Given the description of an element on the screen output the (x, y) to click on. 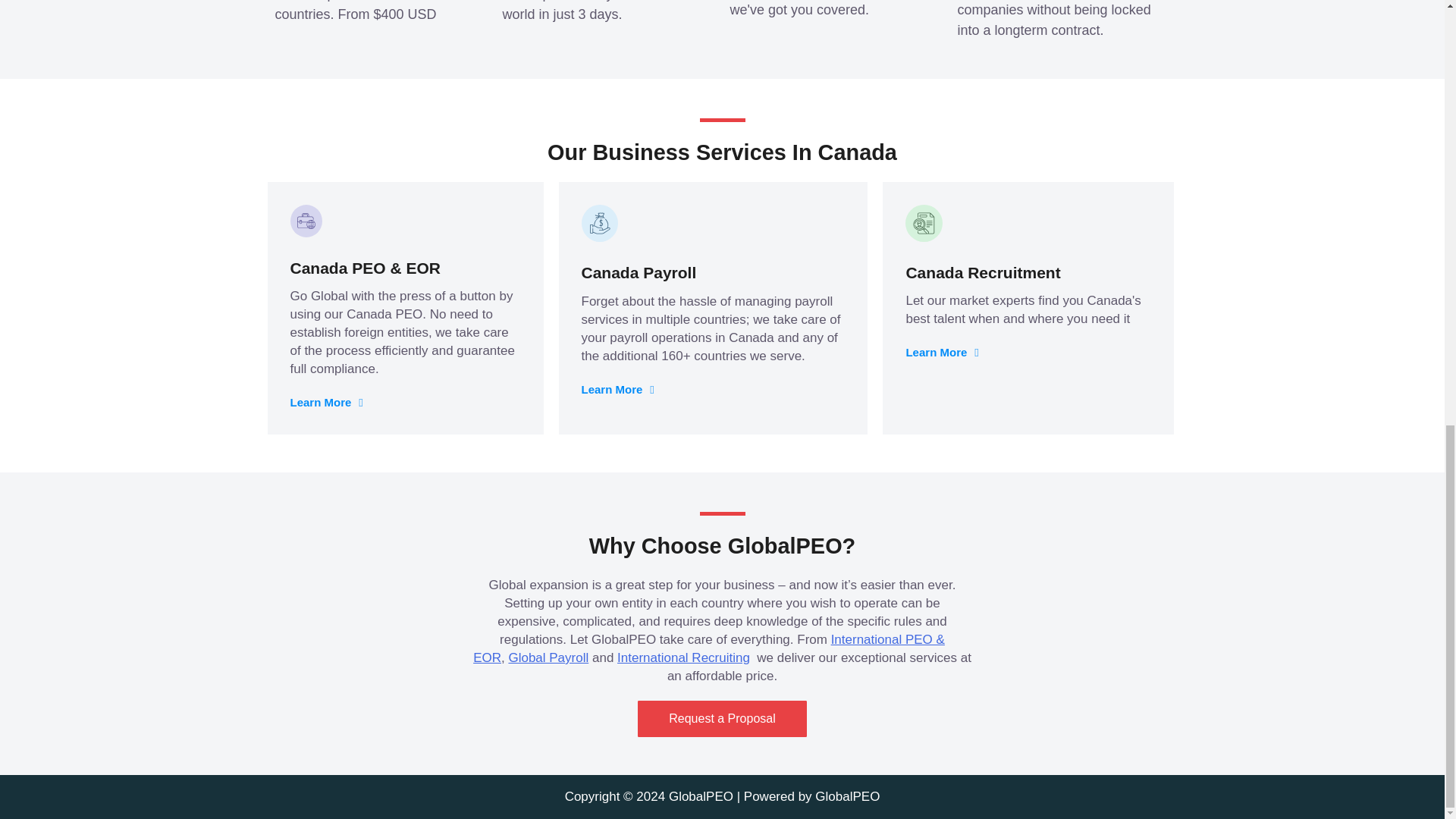
Global Payroll (548, 657)
Learn More (325, 402)
Request a Proposal (721, 719)
International Recruiting (683, 657)
Learn More (616, 389)
Learn More (941, 352)
